Given the description of an element on the screen output the (x, y) to click on. 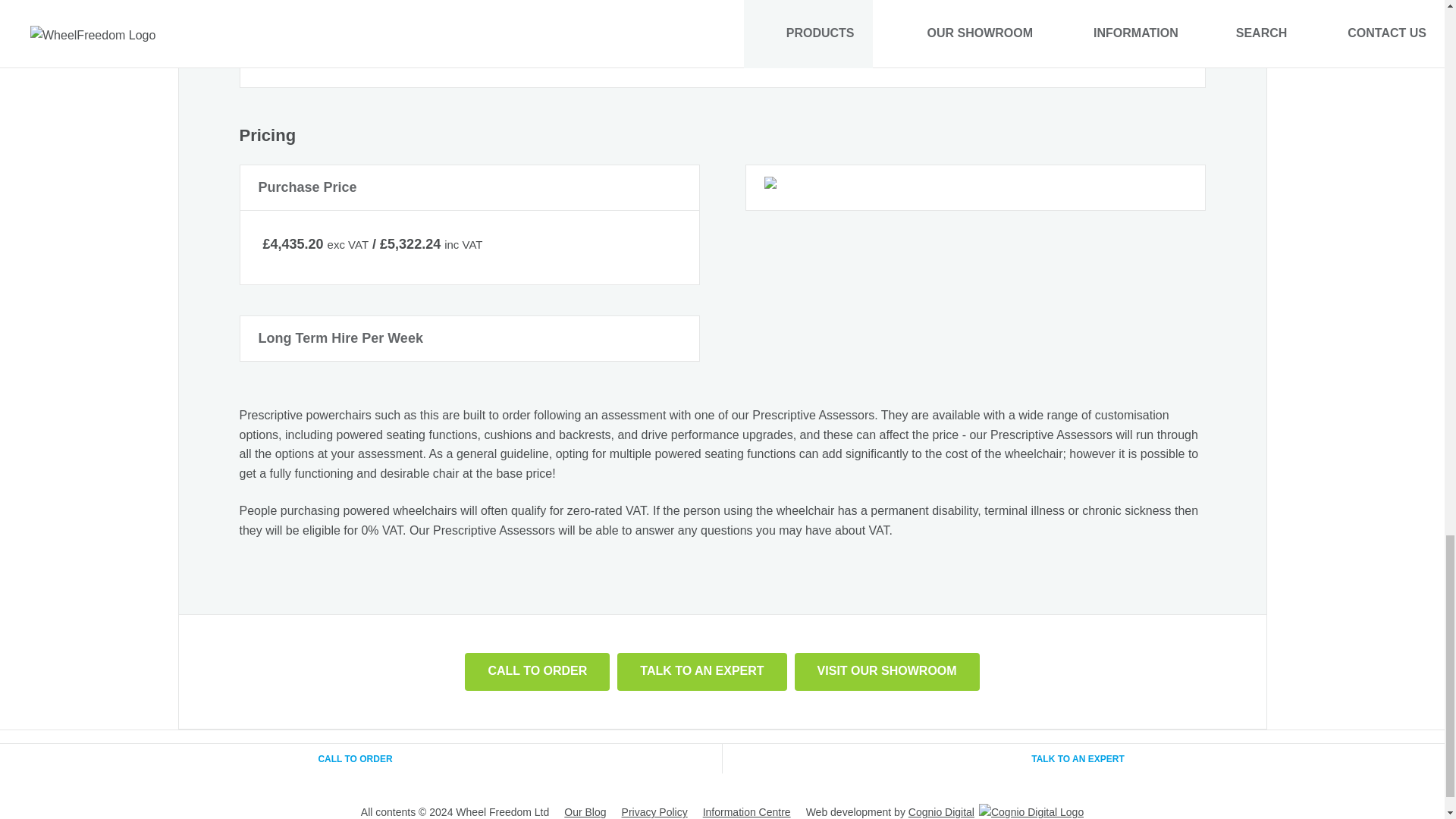
Long Term Hire Per Week (470, 338)
Purchase Price (470, 187)
CALL TO ORDER (537, 670)
VISIT OUR SHOWROOM (886, 670)
CALL TO ORDER (537, 671)
VISIT OUR SHOWROOM (886, 671)
TALK TO AN EXPERT (701, 670)
TALK TO AN EXPERT (701, 671)
